Given the description of an element on the screen output the (x, y) to click on. 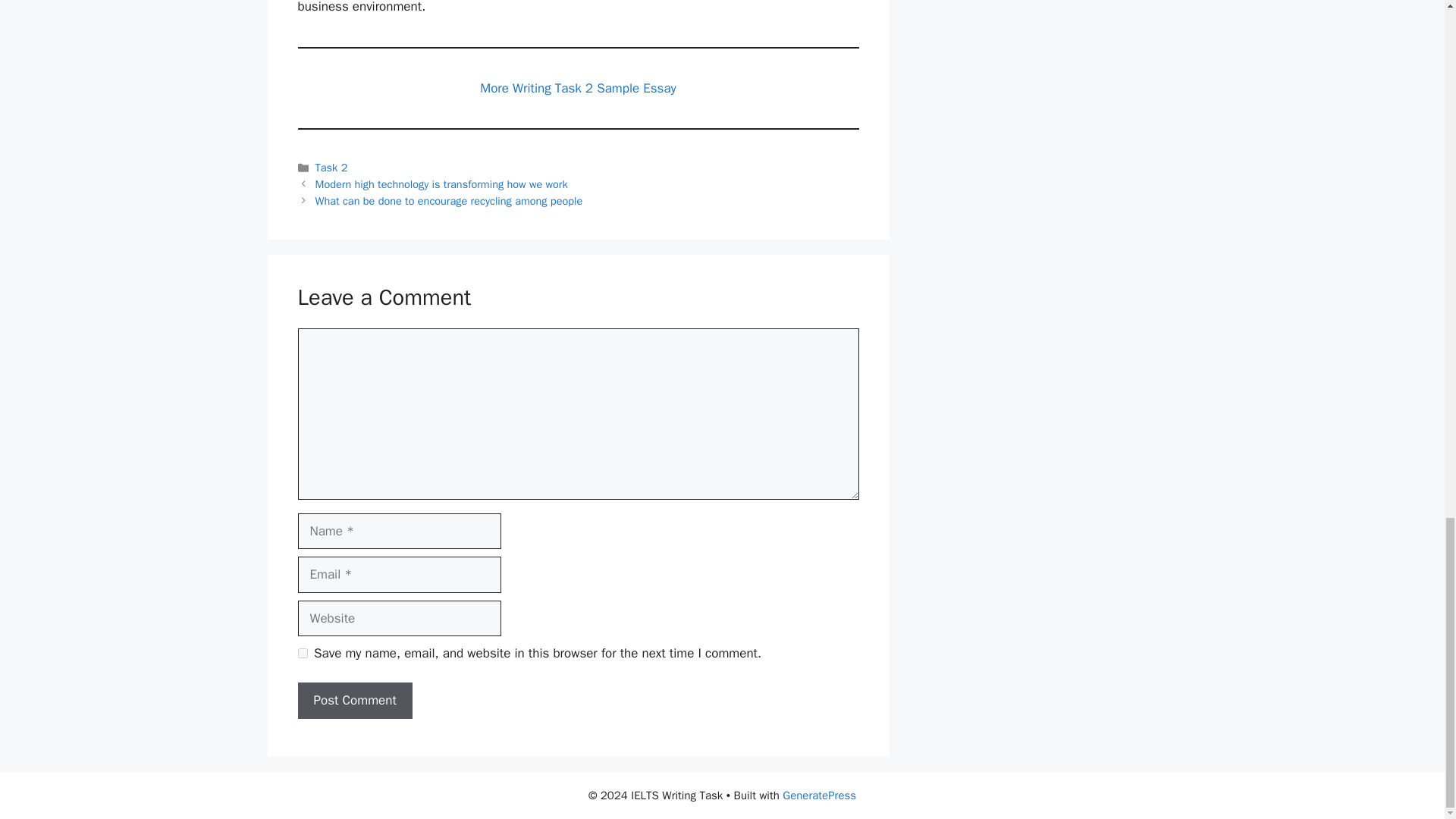
More Writing Task 2 Sample Essay (577, 88)
GeneratePress (819, 795)
yes (302, 653)
Task 2 (331, 167)
Post Comment (354, 700)
Post Comment (354, 700)
Modern high technology is transforming how we work (441, 183)
What can be done to encourage recycling among people (449, 201)
